Given the description of an element on the screen output the (x, y) to click on. 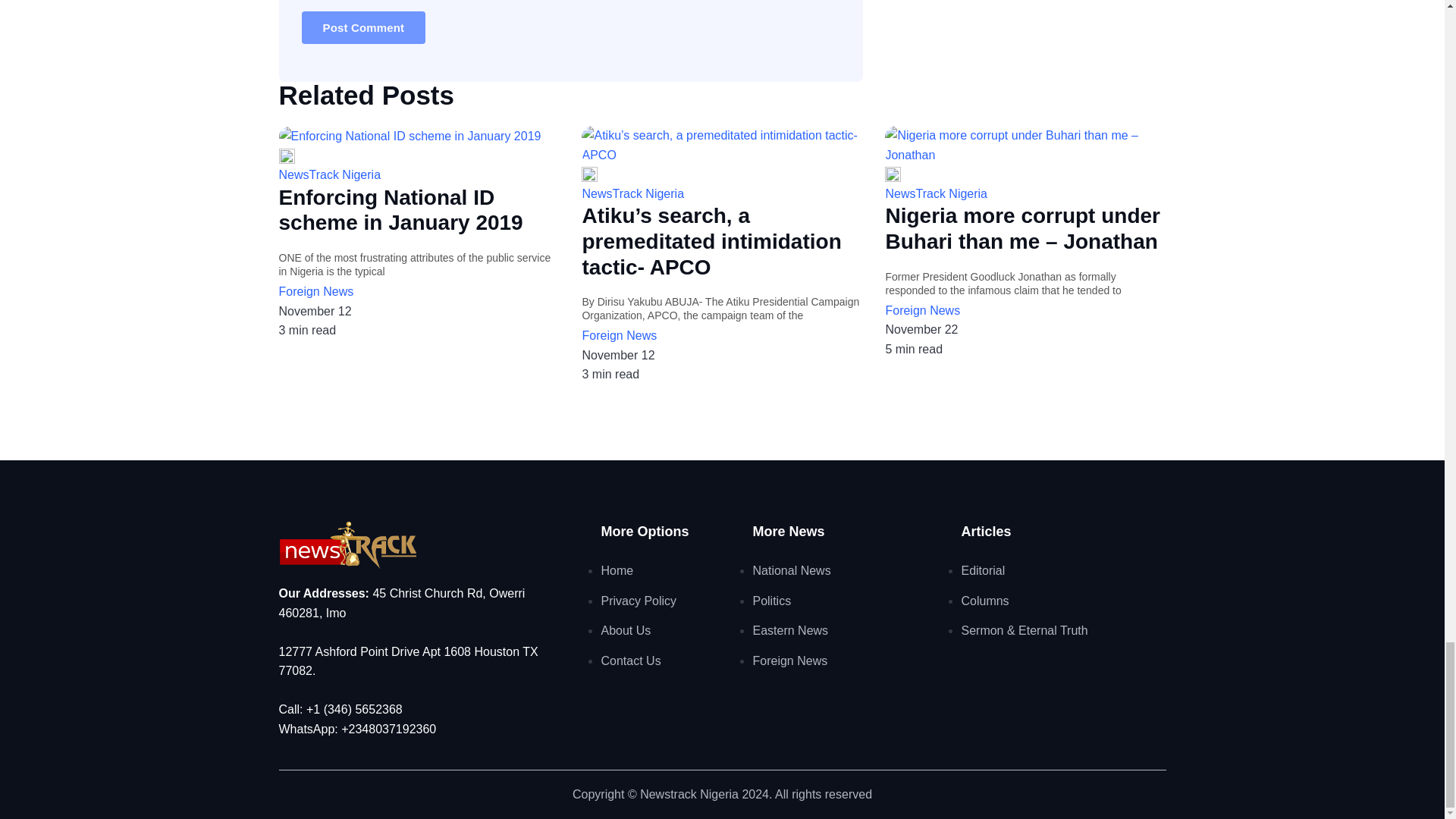
Post Comment (363, 27)
